Given the description of an element on the screen output the (x, y) to click on. 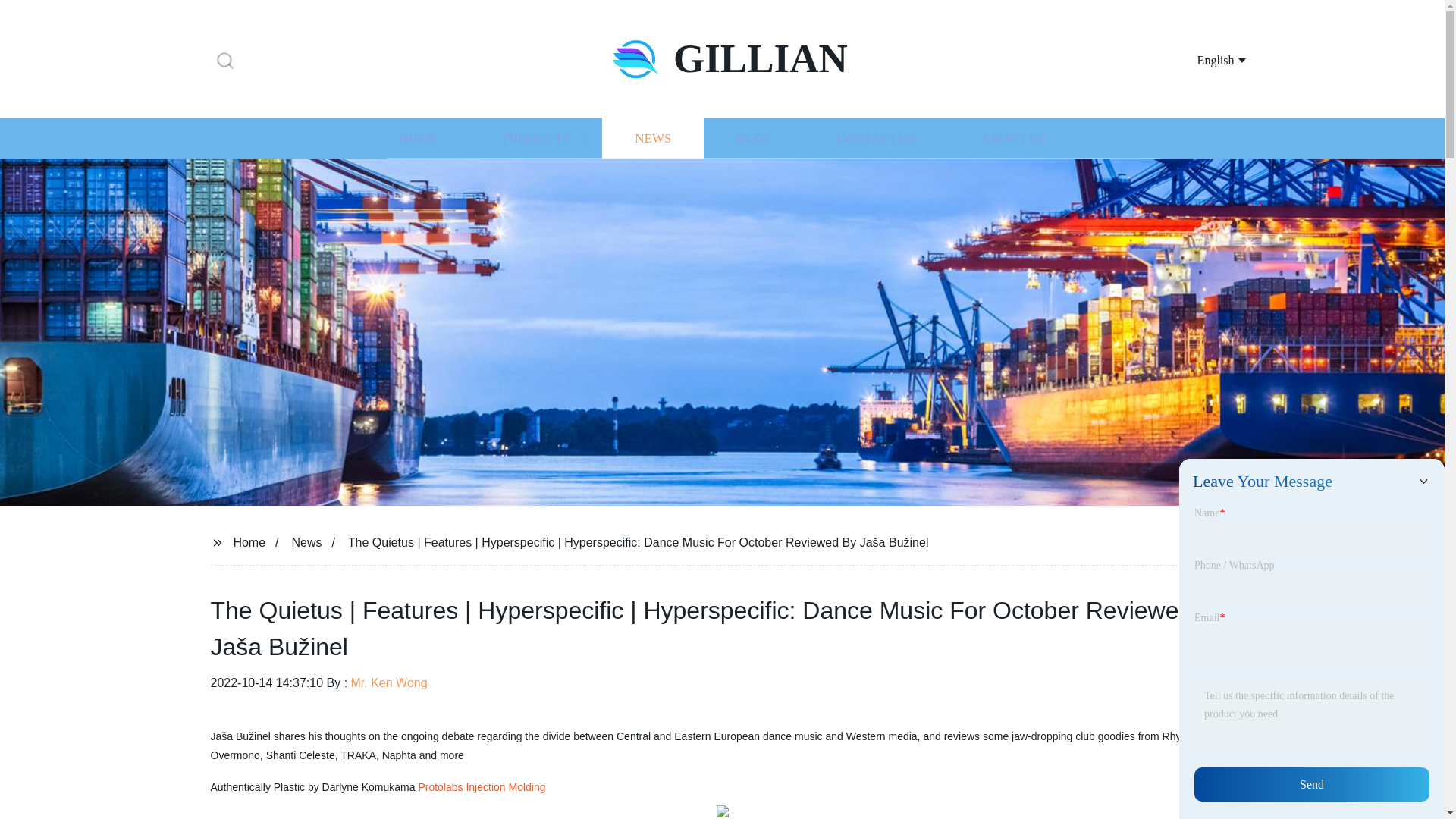
English (1203, 59)
NEWS (652, 137)
BLOG (753, 137)
CONTACT US (877, 137)
English (1203, 59)
HOME (417, 137)
Top (1404, 778)
ABOUT US (1013, 137)
Protolabs Injection Molding (480, 787)
PRODUCTS (535, 137)
Home (248, 541)
News (306, 541)
